Given the description of an element on the screen output the (x, y) to click on. 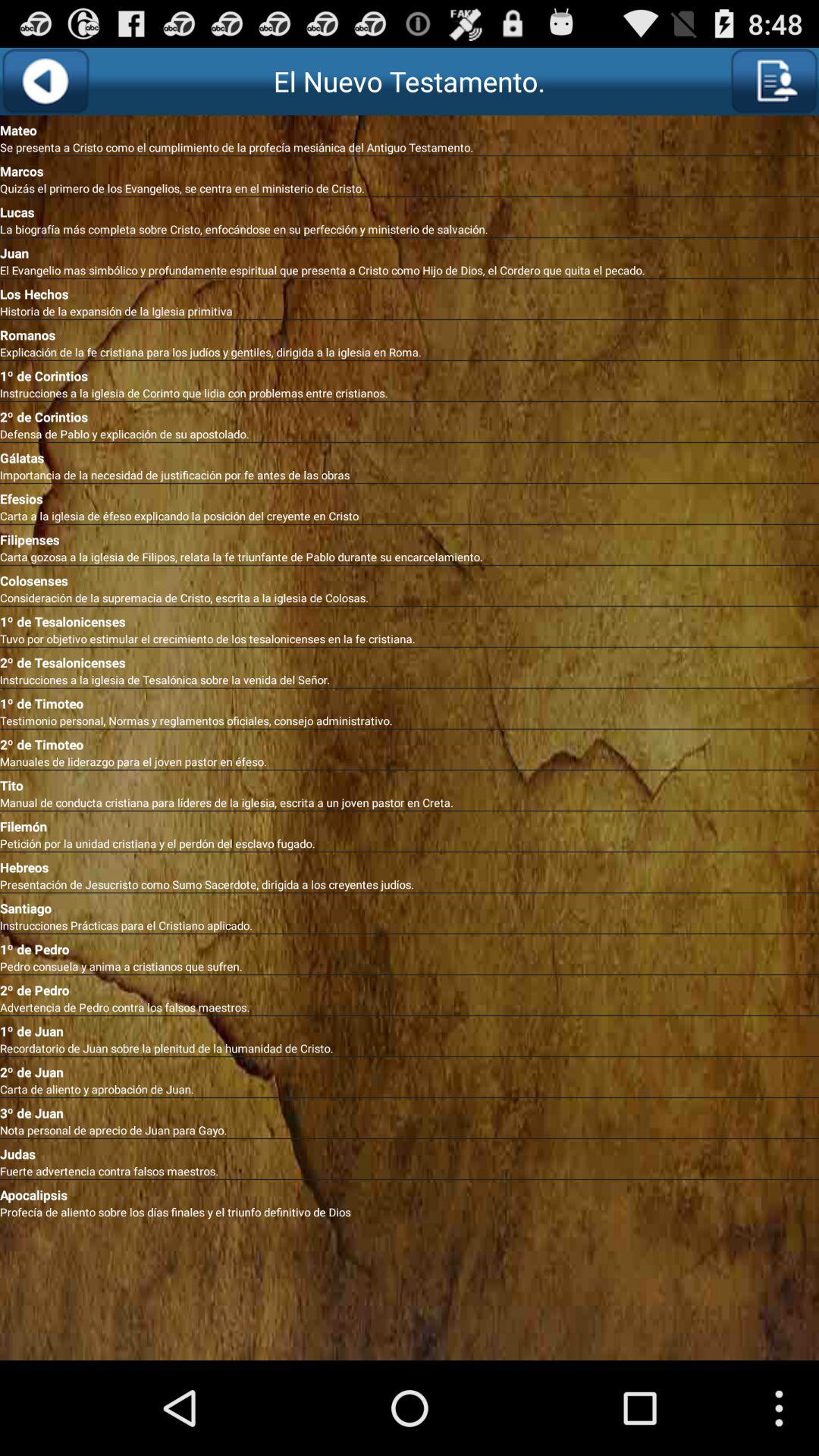
turn off the tito (409, 782)
